Given the description of an element on the screen output the (x, y) to click on. 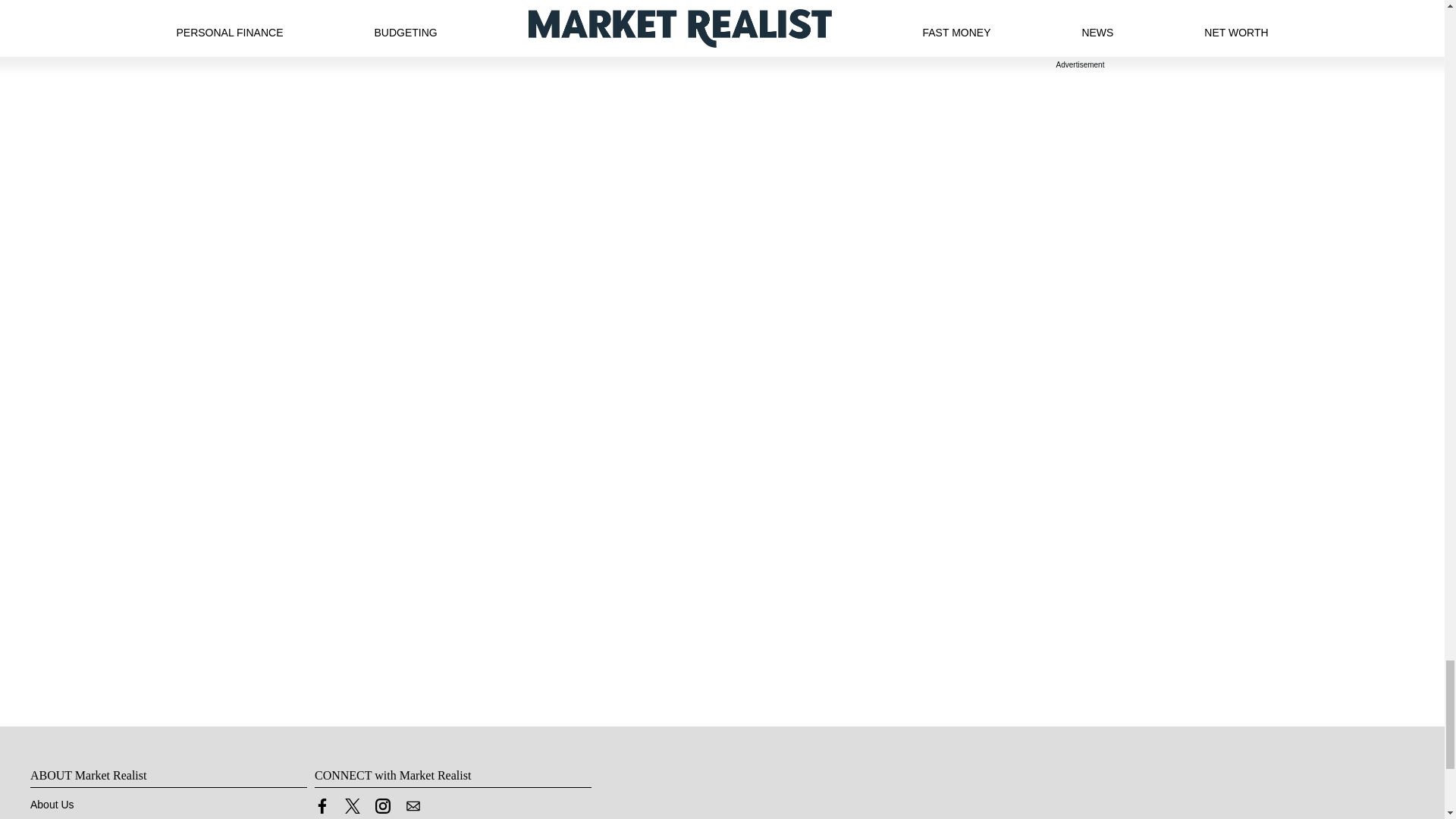
About Us (52, 804)
Link to Facebook (322, 809)
Contact us by Email (413, 809)
About Us (52, 804)
Contact us by Email (413, 806)
Link to Instagram (382, 809)
Link to Facebook (322, 806)
Link to Instagram (382, 806)
Link to X (352, 806)
Link to X (352, 809)
